Given the description of an element on the screen output the (x, y) to click on. 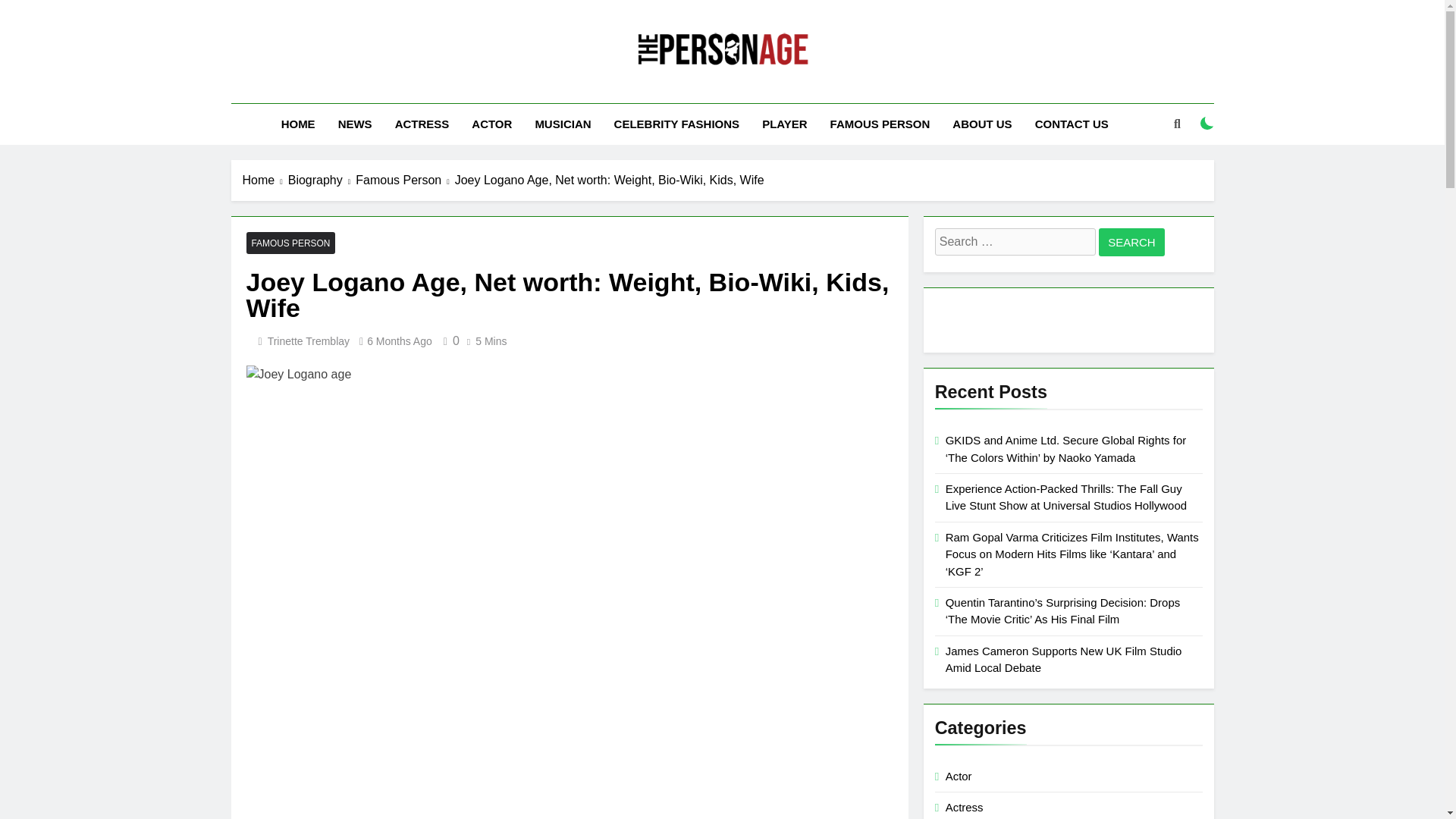
PLAYER (784, 124)
ACTRESS (422, 124)
FAMOUS PERSON (290, 242)
6 Months Ago (399, 340)
FAMOUS PERSON (880, 124)
0 (449, 340)
Search (1131, 242)
Trinette Tremblay (308, 340)
on (1206, 123)
HOME (297, 124)
